Given the description of an element on the screen output the (x, y) to click on. 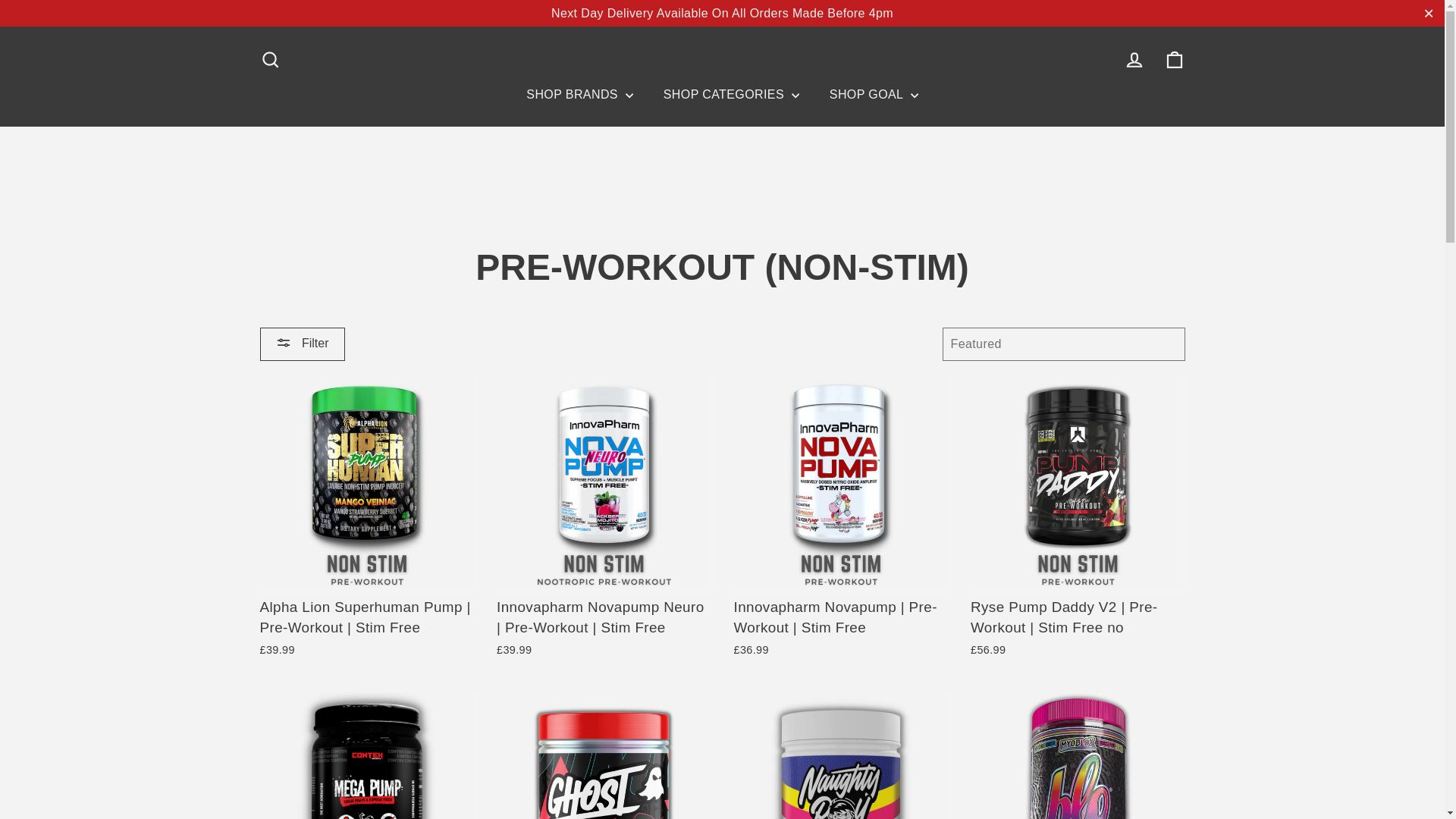
icon-X (1429, 13)
icon-search (270, 59)
icon-filter (283, 342)
account (1134, 59)
icon-bag-minimal (1174, 59)
